Given the description of an element on the screen output the (x, y) to click on. 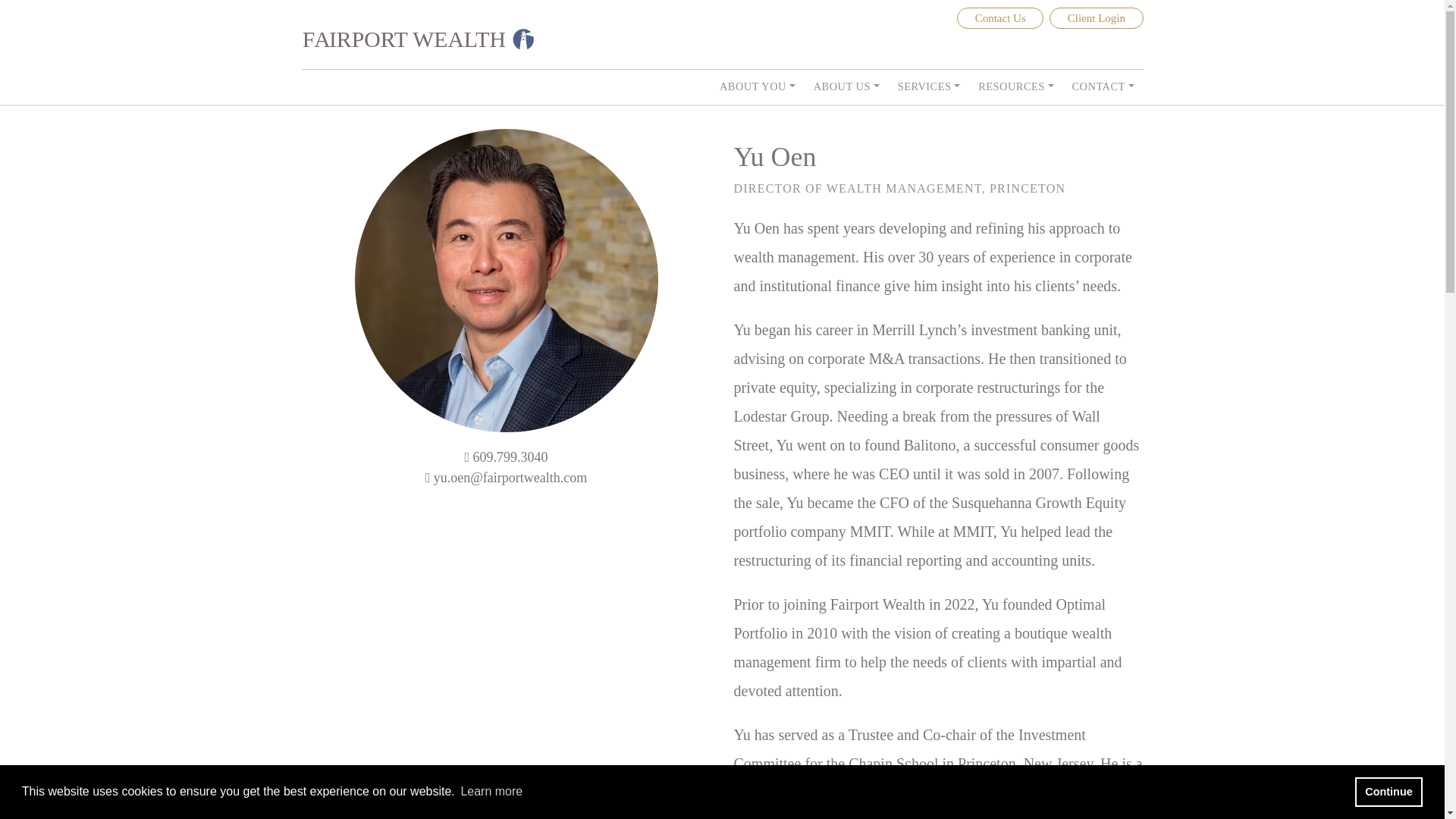
Client Login (1095, 17)
Continue (1388, 791)
CONTACT (1102, 86)
RESOURCES (1015, 86)
ABOUT US (846, 86)
Learn more (491, 791)
Contact Us (999, 17)
ABOUT YOU (756, 86)
SERVICES (929, 86)
609.799.3040 (510, 457)
